Given the description of an element on the screen output the (x, y) to click on. 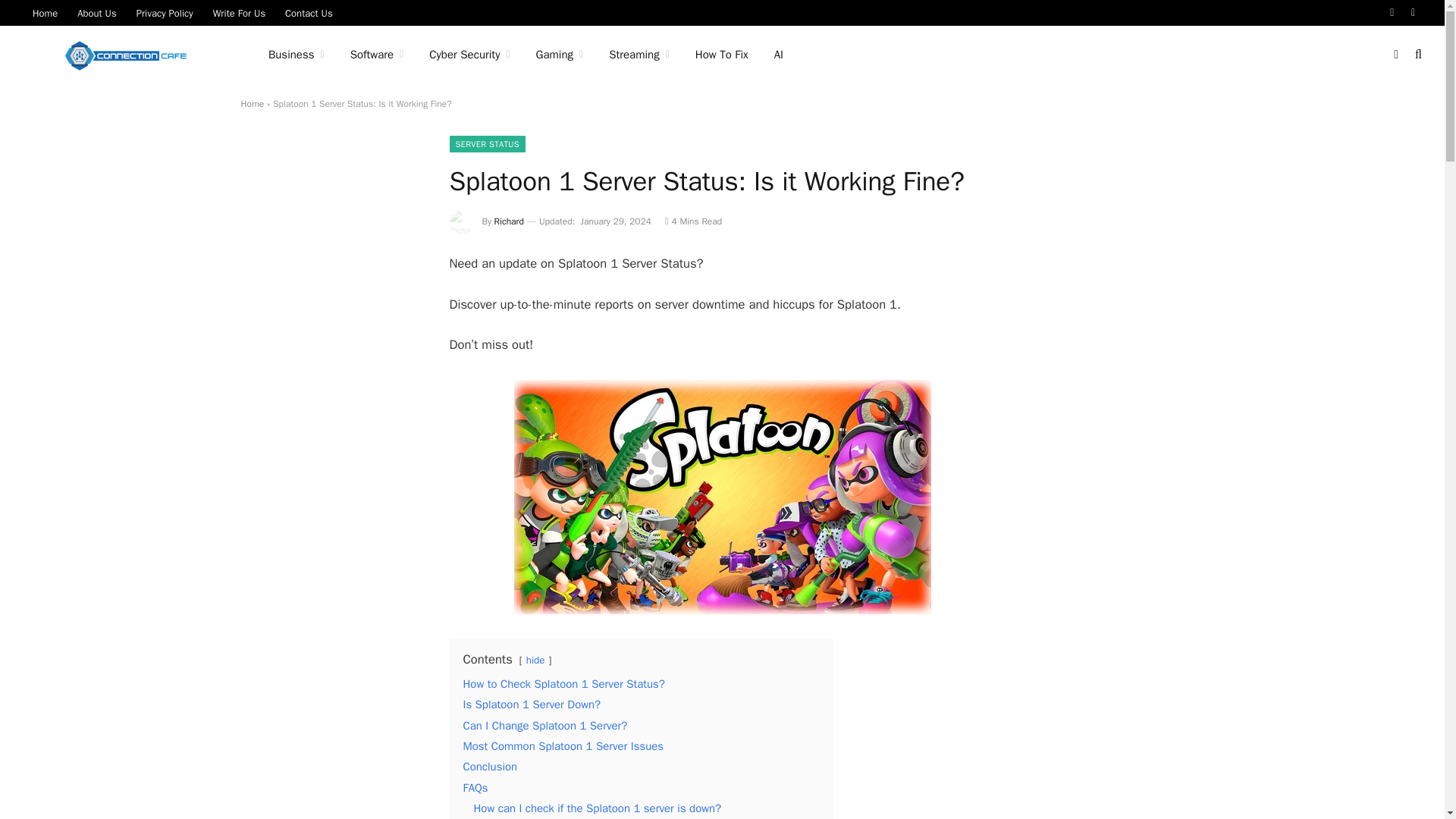
Switch to Dark Design - easier on eyes. (1396, 54)
Gaming (559, 54)
Home (44, 12)
Privacy Policy (164, 12)
Posts by Richard (509, 221)
Contact Us (308, 12)
How To Fix (721, 54)
About Us (95, 12)
Write For Us (239, 12)
Streaming (638, 54)
Software (376, 54)
Connection Cafe (125, 54)
Business (296, 54)
Cyber Security (469, 54)
